Given the description of an element on the screen output the (x, y) to click on. 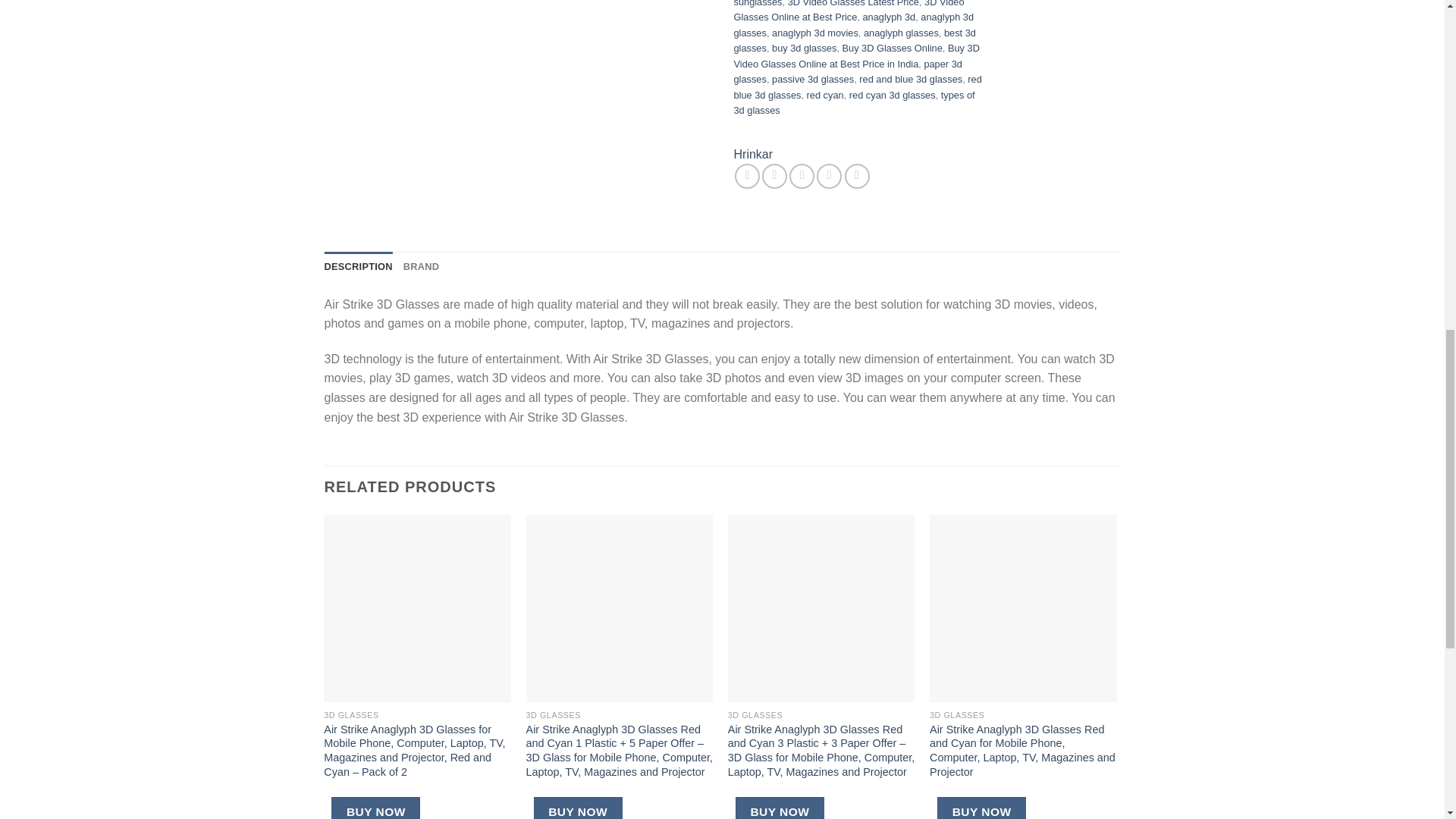
View brand (753, 154)
Share on Facebook (747, 176)
Share on Twitter (774, 176)
